Given the description of an element on the screen output the (x, y) to click on. 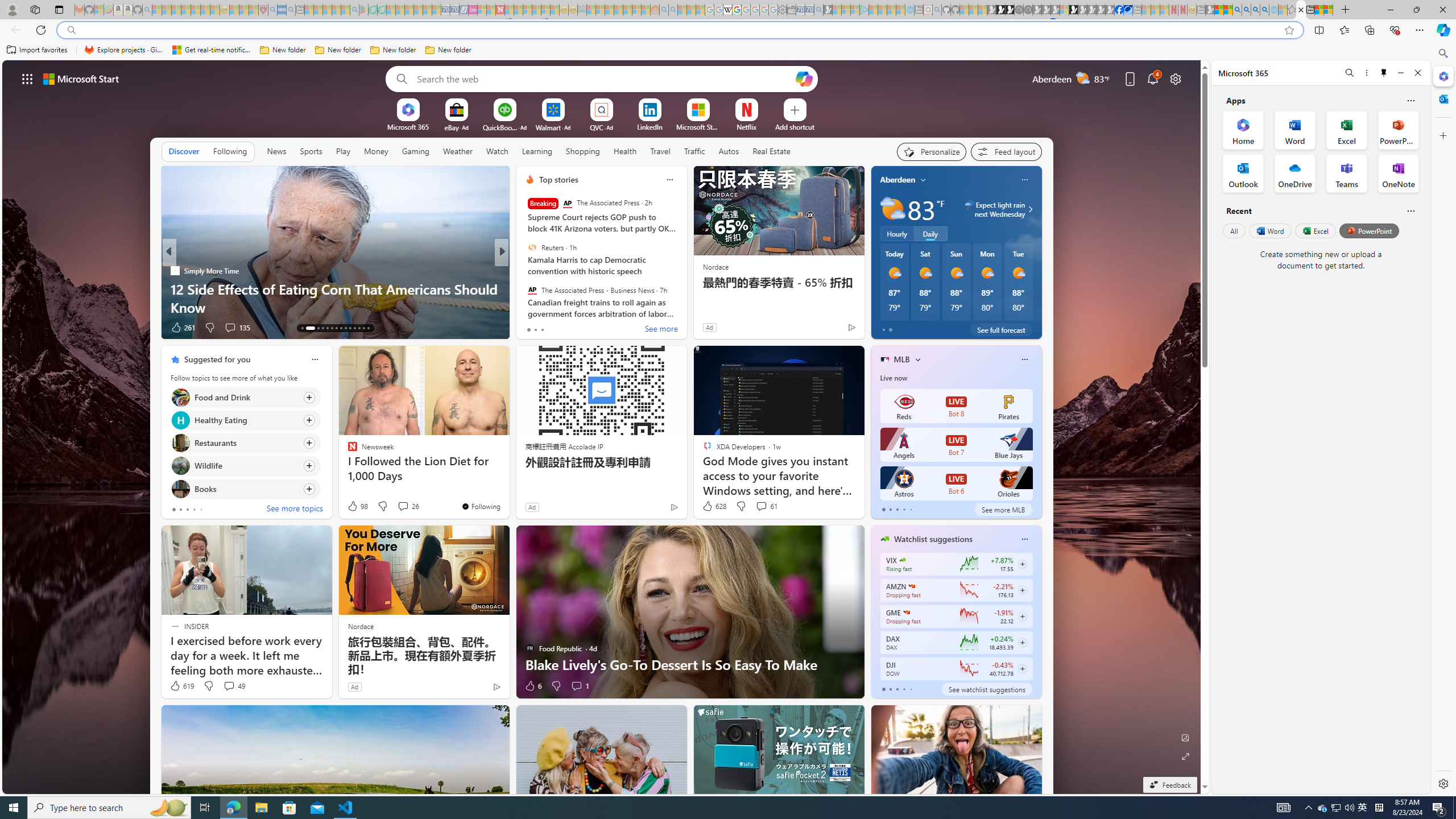
Class: icon-img (1024, 538)
Netflix (746, 126)
Wildlife (180, 466)
AutomationID: tab-15 (314, 328)
View comments 6 Comment (576, 327)
Daily (929, 233)
Click to follow topic Wildlife (245, 465)
